Given the description of an element on the screen output the (x, y) to click on. 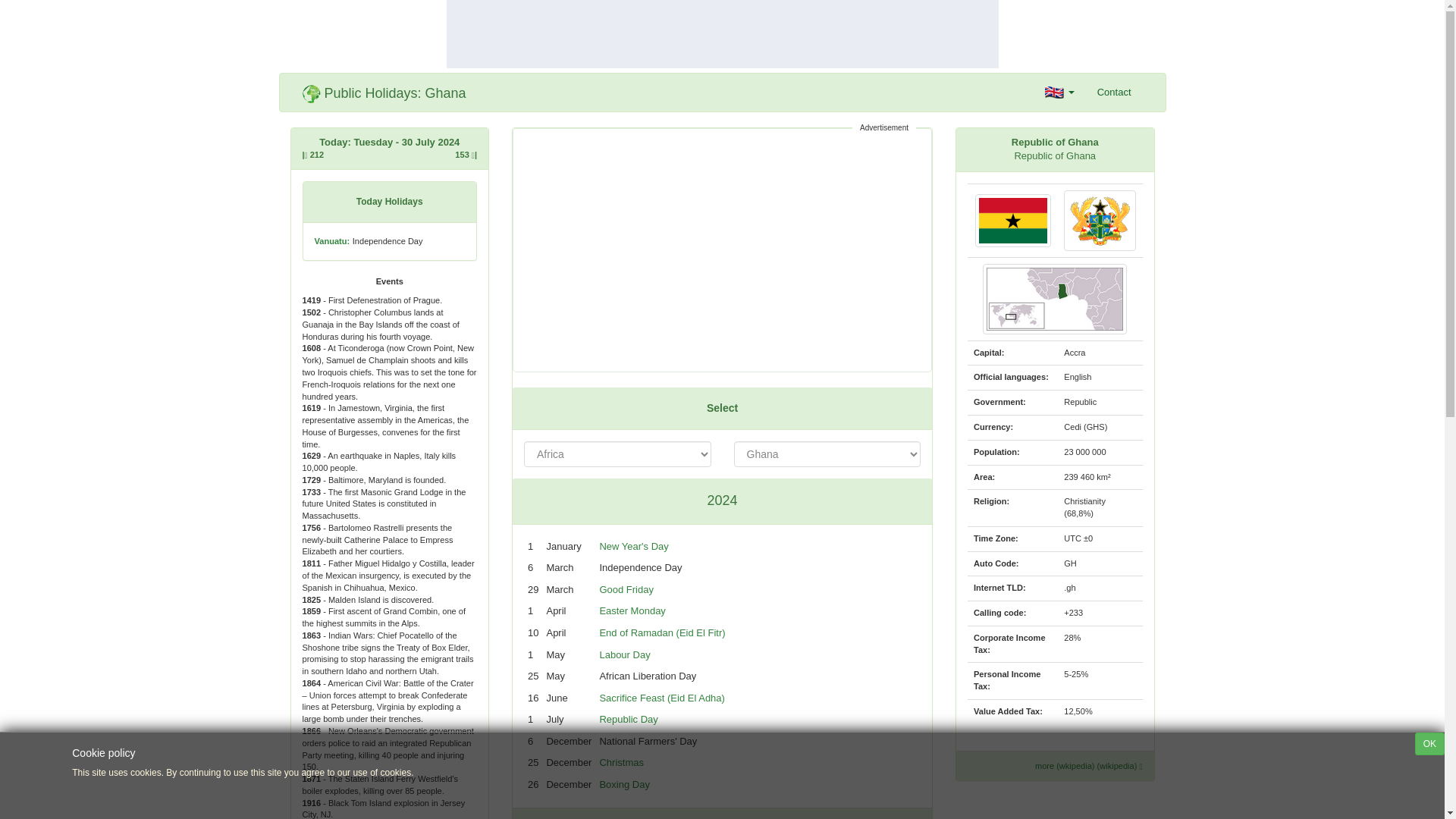
Easter Monday (631, 610)
Republic Day (628, 718)
Good Friday (625, 589)
previous (557, 817)
Christmas (620, 762)
Boxing Day (623, 784)
Contact (1114, 92)
Public Holidays: Ghana (384, 92)
Vanuatu: (331, 240)
New Year's Day (633, 546)
Top add (721, 33)
Advertisement (721, 250)
Labour Day (623, 654)
next (895, 817)
